Given the description of an element on the screen output the (x, y) to click on. 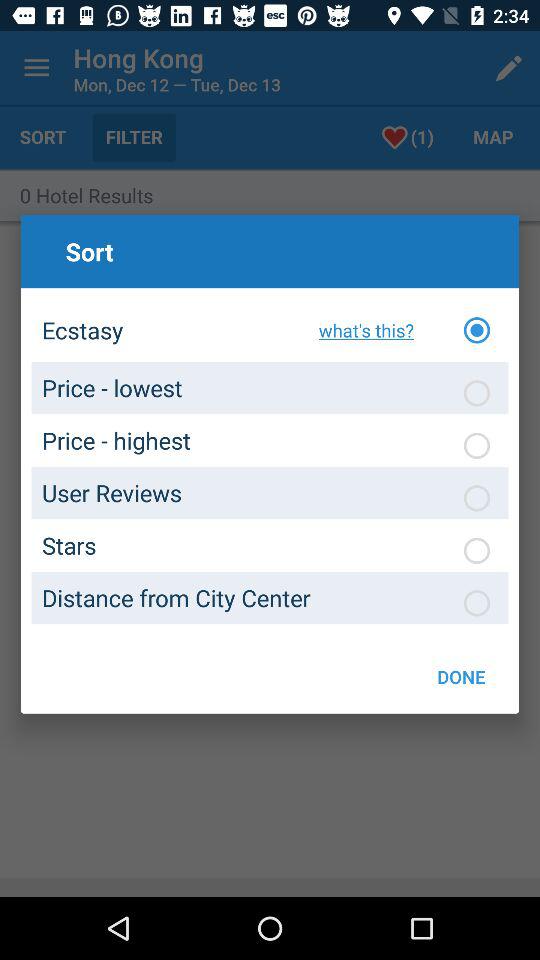
sort option click (477, 550)
